Given the description of an element on the screen output the (x, y) to click on. 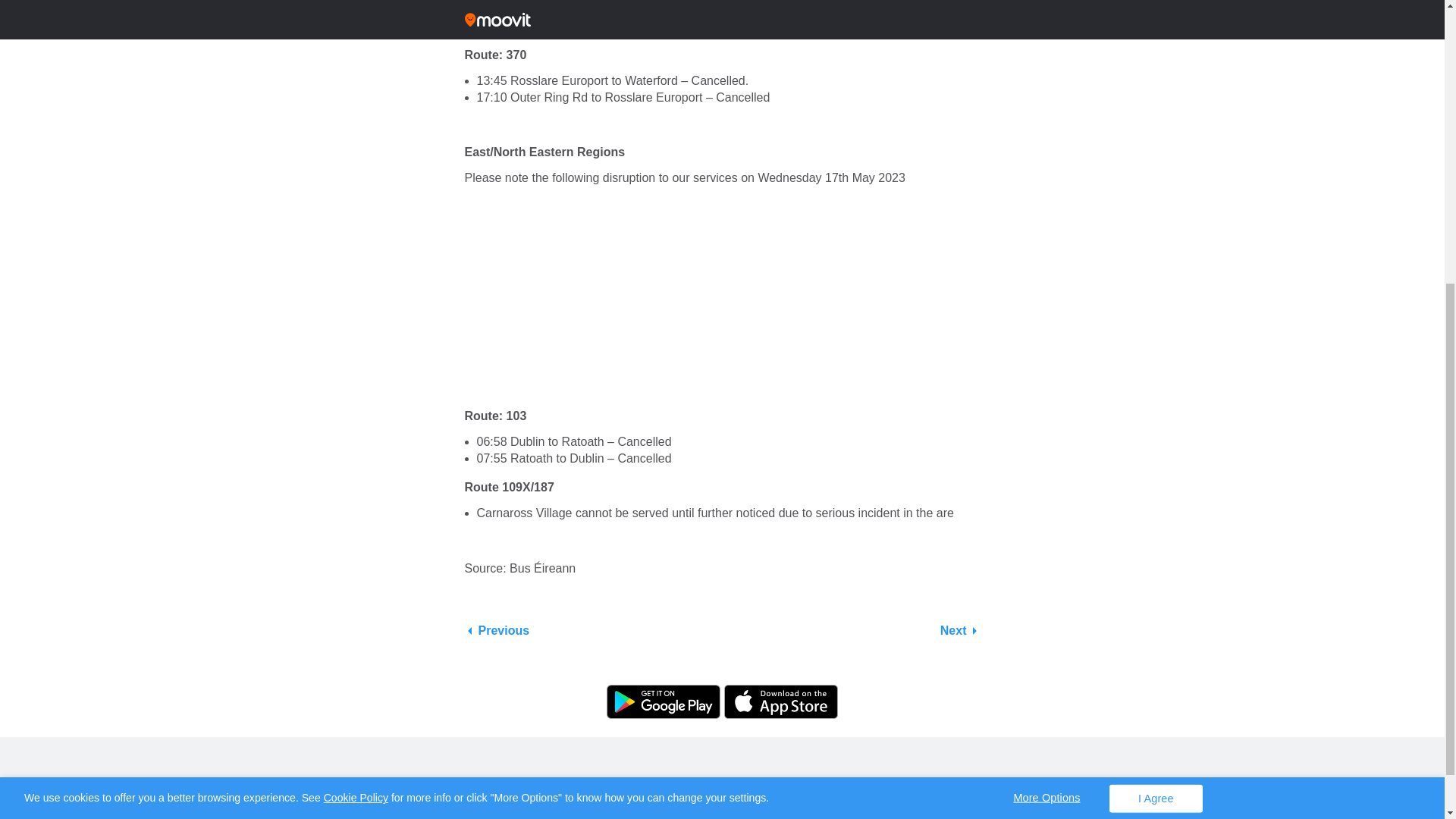
Privacy Policy (686, 747)
More Options (1046, 343)
Previous (496, 630)
Cookie Policy (355, 343)
I Agree (1156, 343)
Support (770, 747)
Next (959, 630)
Terms (734, 747)
